Given the description of an element on the screen output the (x, y) to click on. 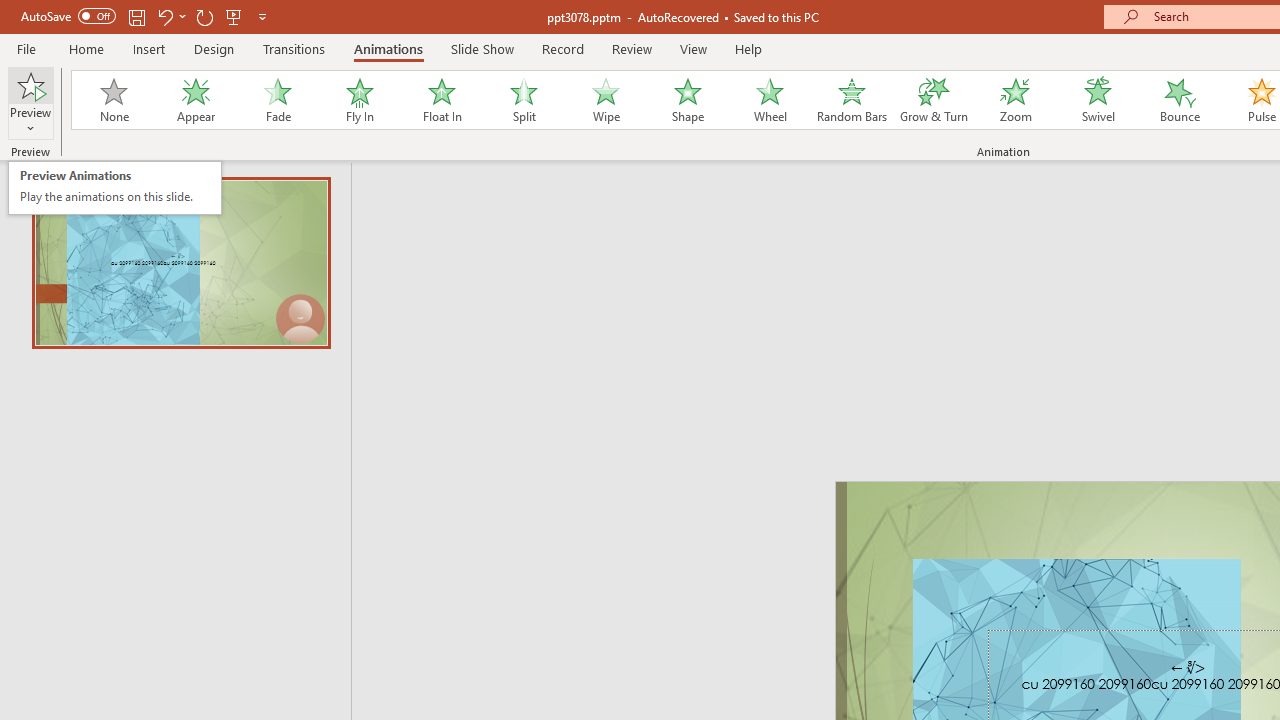
Grow & Turn (934, 100)
Preview (114, 188)
None (30, 84)
Wheel (113, 100)
Preview (770, 100)
Random Bars (30, 102)
